Given the description of an element on the screen output the (x, y) to click on. 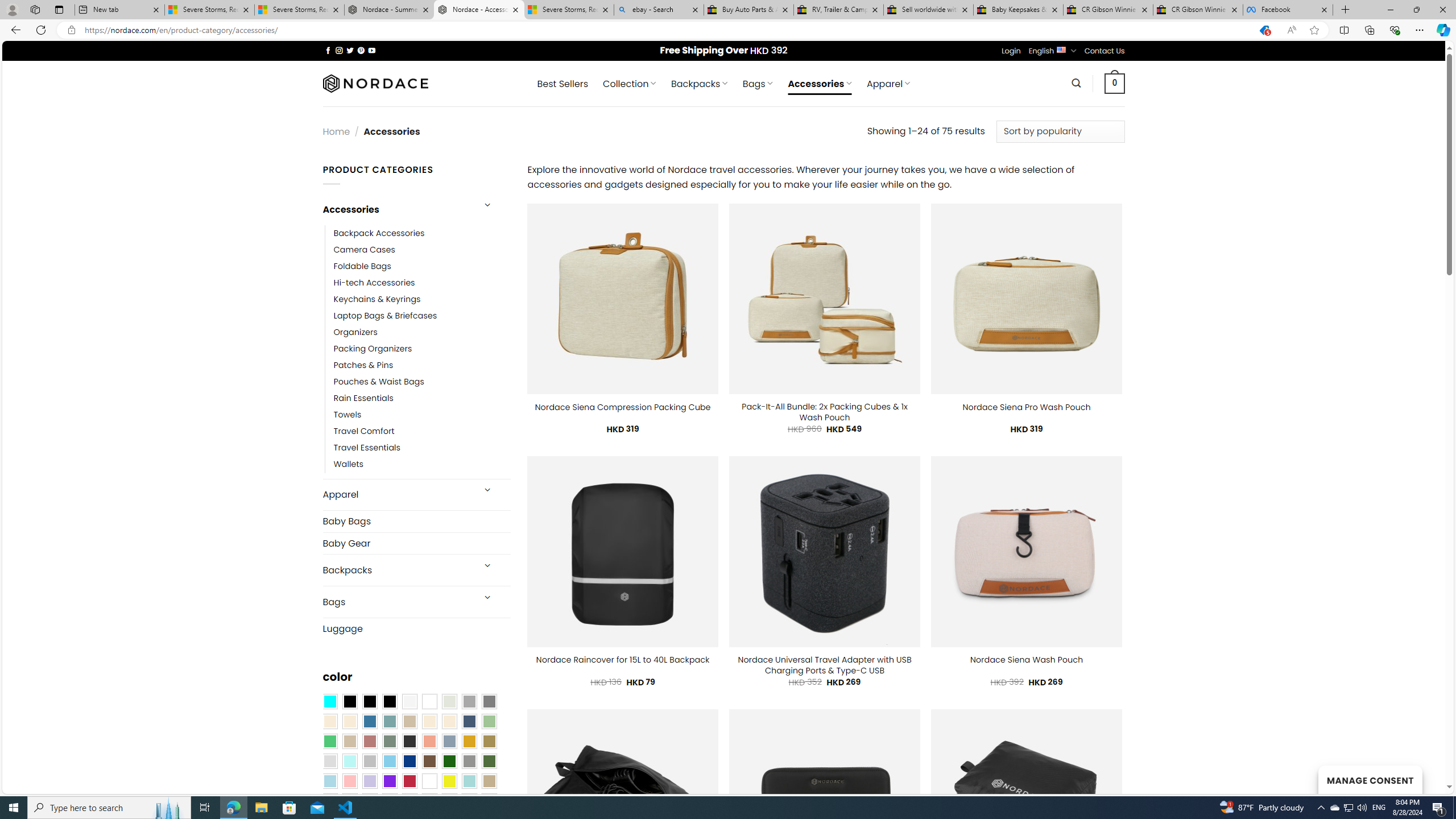
Nordace Siena Compression Packing Cube (622, 406)
Keychains & Keyrings (376, 298)
Rain Essentials (363, 398)
Red (408, 780)
Backpacks (397, 570)
Rose (369, 741)
Foldable Bags (422, 265)
